Given the description of an element on the screen output the (x, y) to click on. 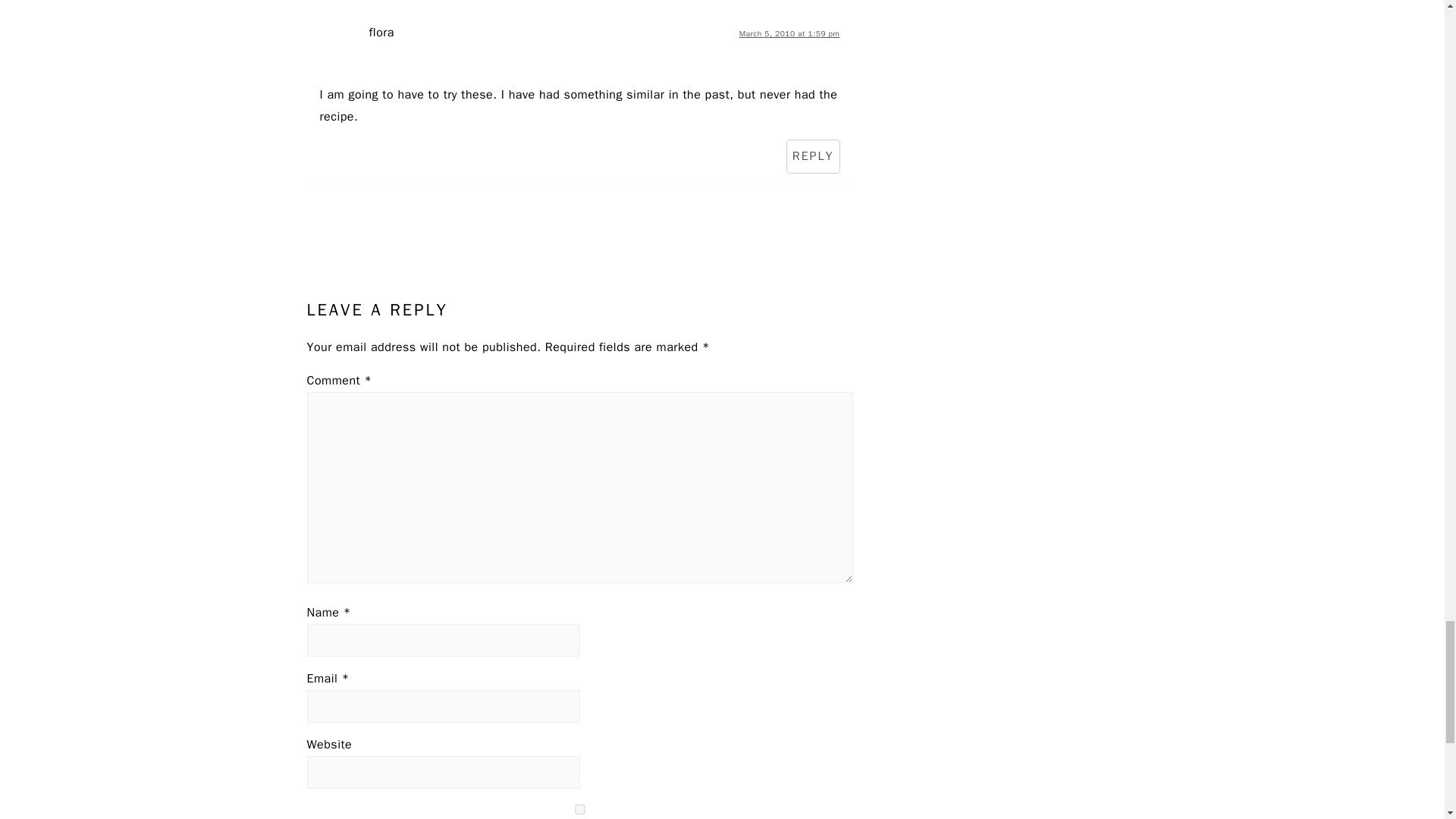
yes (578, 809)
